Given the description of an element on the screen output the (x, y) to click on. 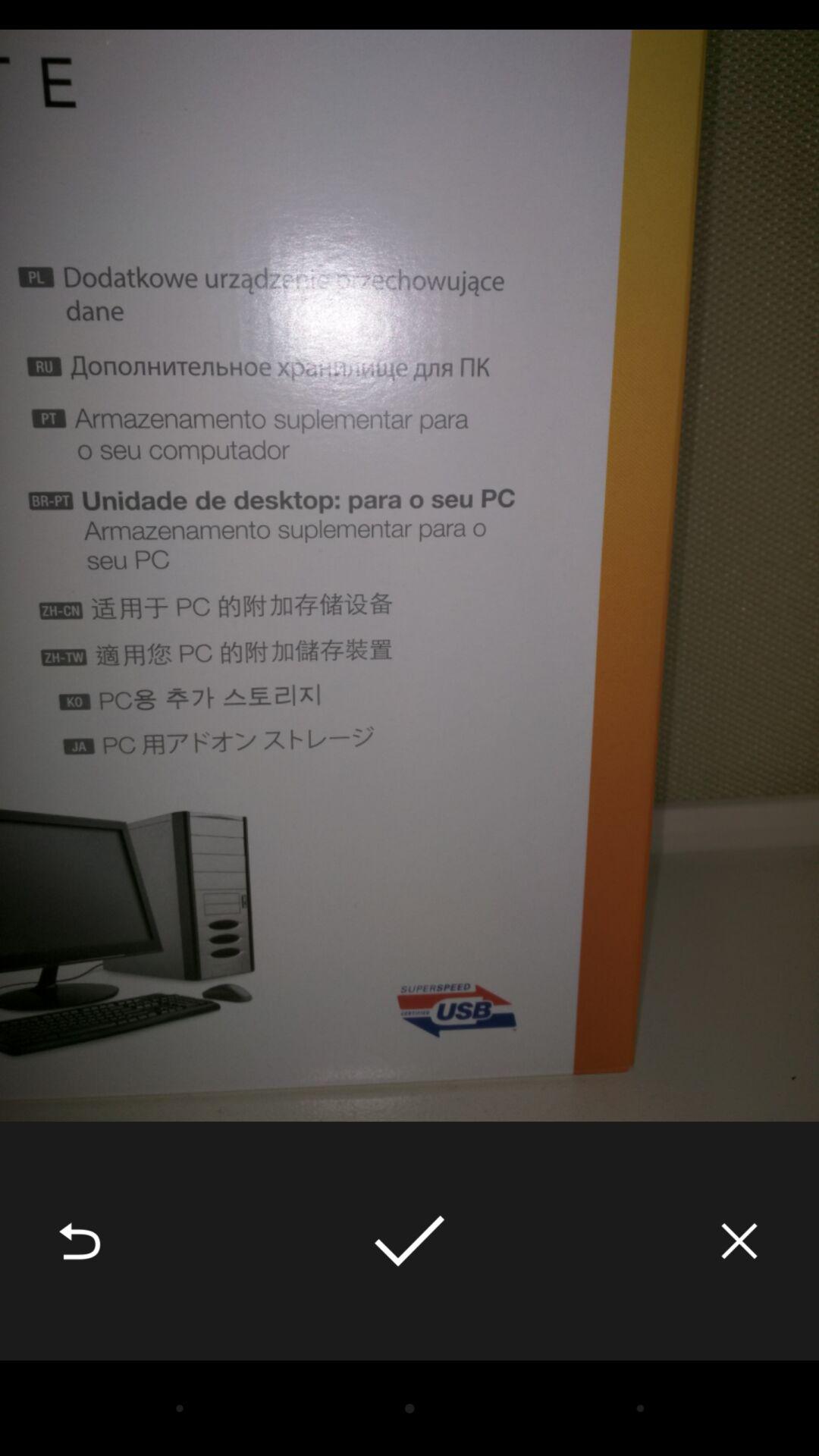
open item at the bottom right corner (739, 1240)
